Given the description of an element on the screen output the (x, y) to click on. 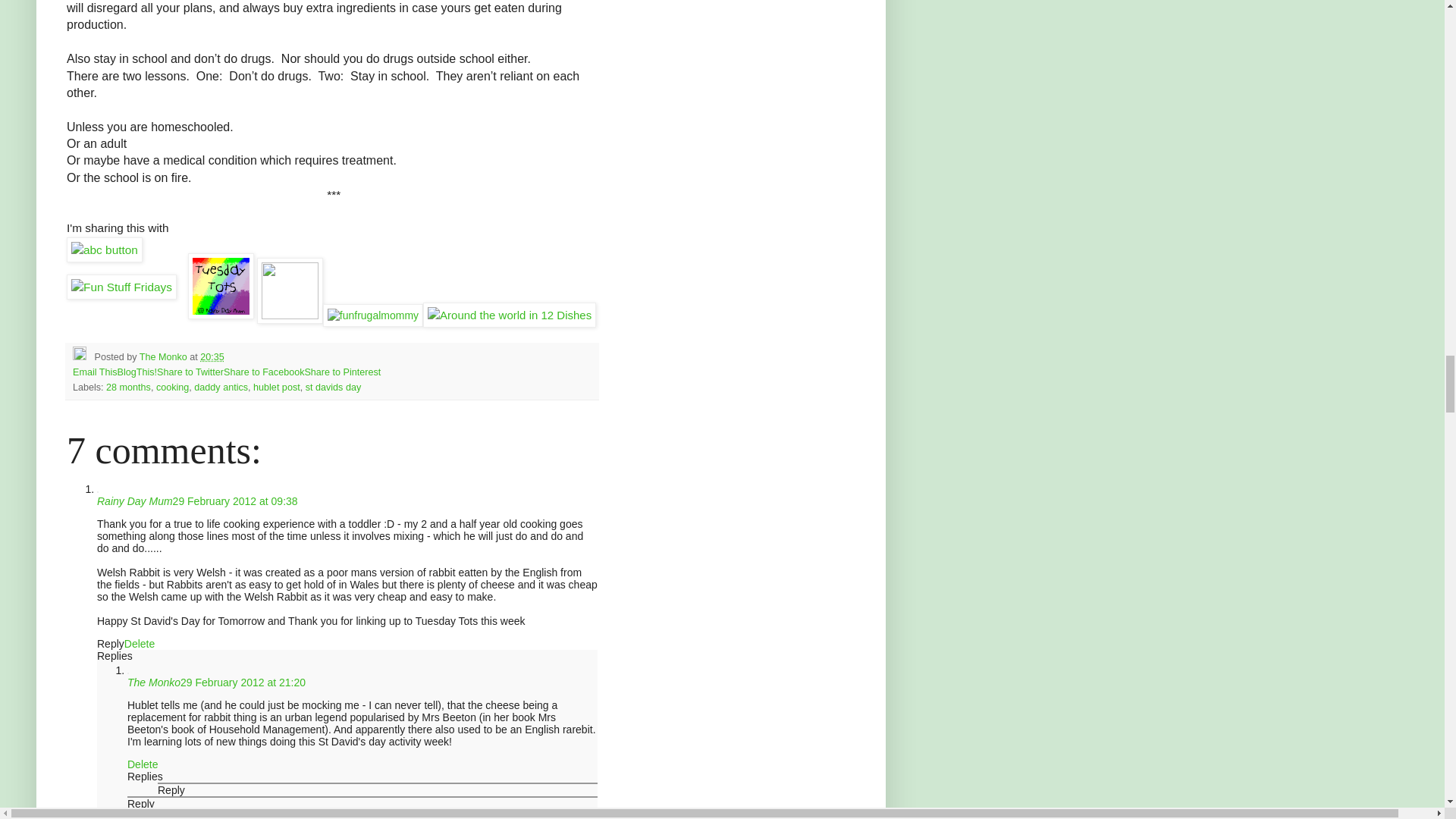
Share to Twitter (190, 371)
Share to Pinterest (342, 371)
hublet post (276, 387)
permanent link (212, 357)
Email This (94, 371)
author profile (164, 357)
Share to Facebook (264, 371)
The Monko (164, 357)
daddy antics (220, 387)
Edit Post (83, 357)
28 months (128, 387)
Share to Facebook (264, 371)
Delete (138, 644)
BlogThis! (137, 371)
Rainy Day Mum (135, 500)
